Given the description of an element on the screen output the (x, y) to click on. 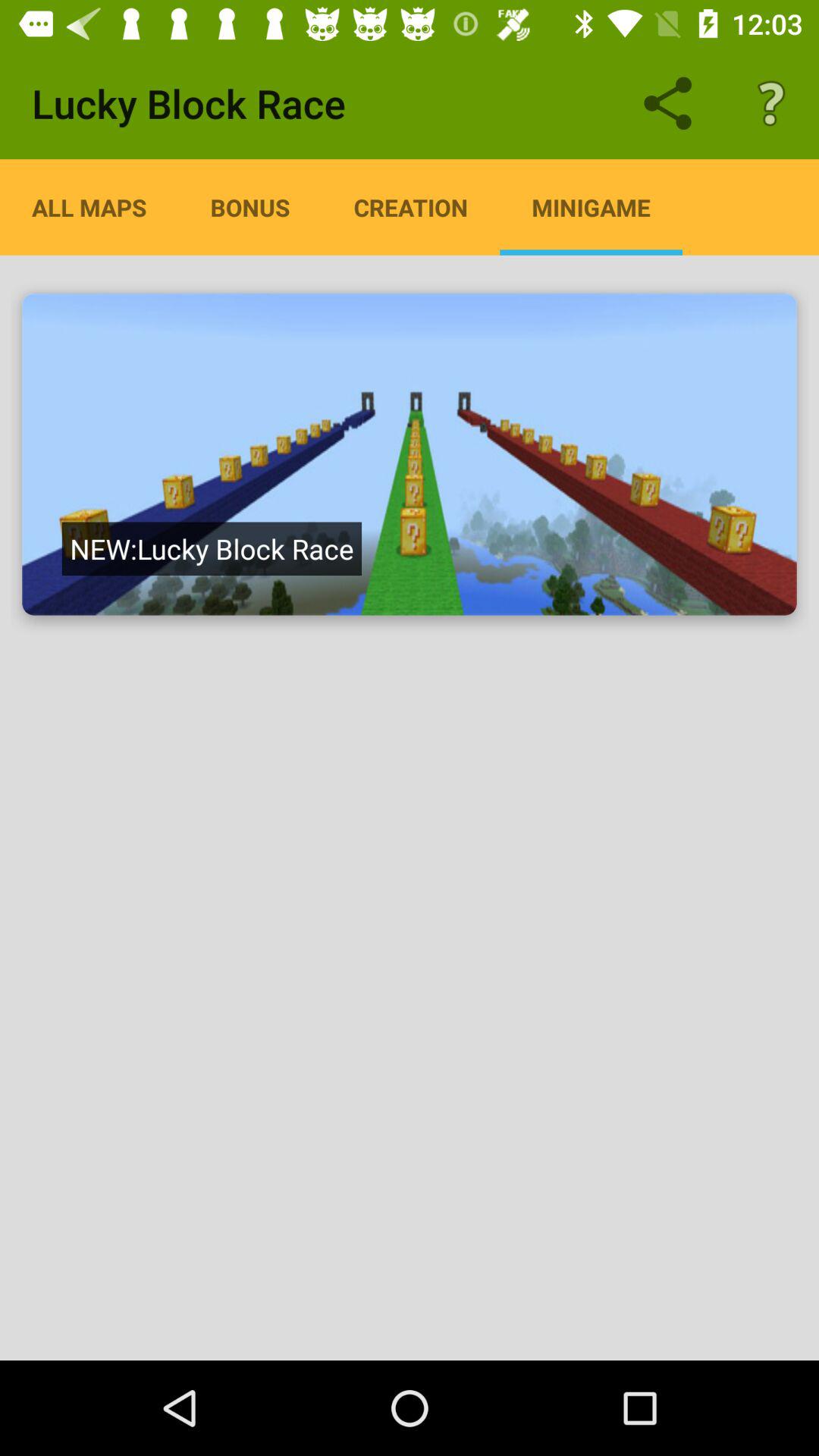
press icon below lucky block race item (249, 207)
